Given the description of an element on the screen output the (x, y) to click on. 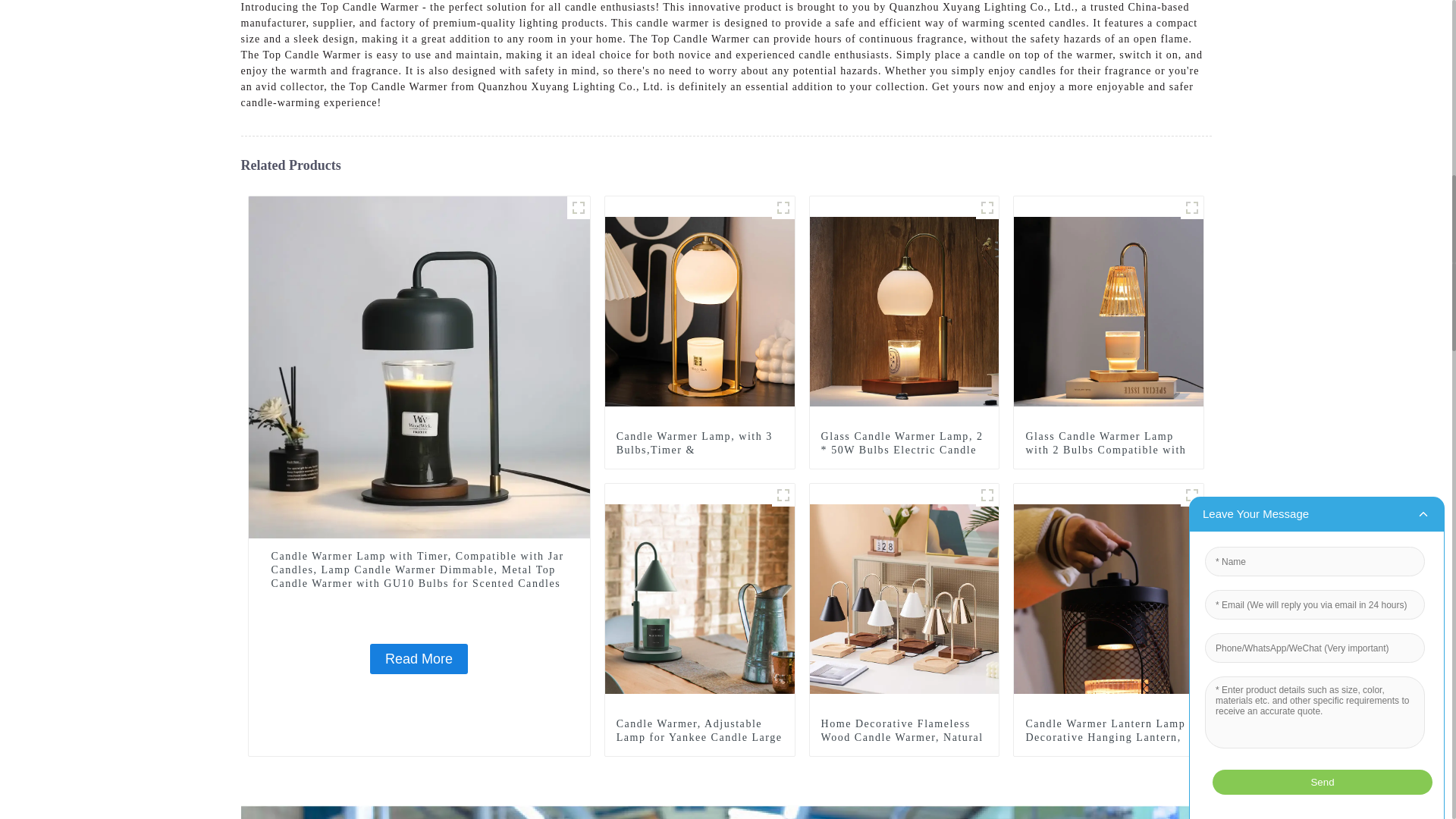
Read More (418, 658)
